Given the description of an element on the screen output the (x, y) to click on. 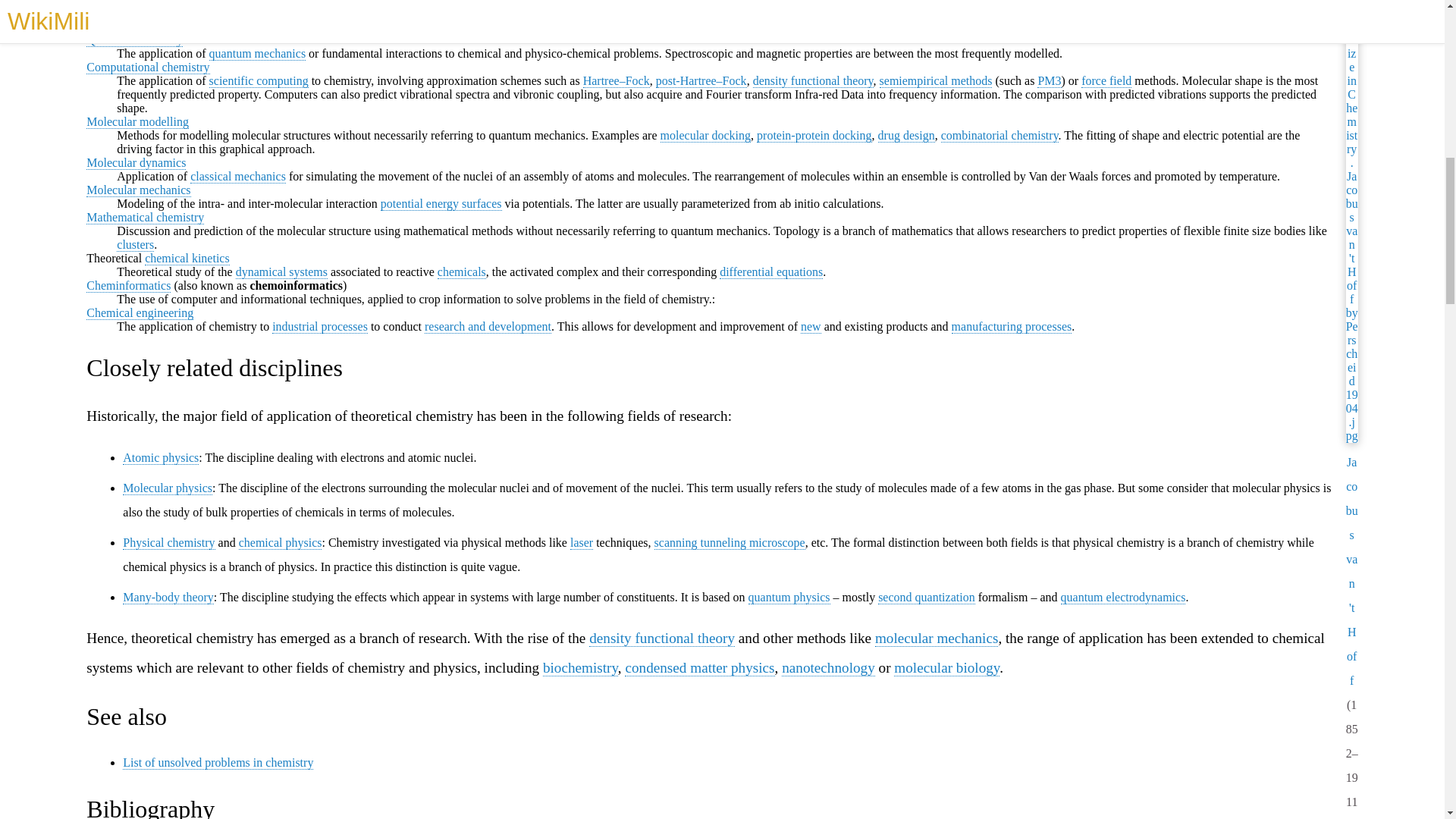
density functional theory (812, 80)
quantum mechanics (257, 53)
force field (1106, 80)
PM3 (1048, 80)
scientific computing (258, 80)
Quantum chemistry (134, 39)
Computational chemistry (147, 67)
semiempirical methods (935, 80)
